Given the description of an element on the screen output the (x, y) to click on. 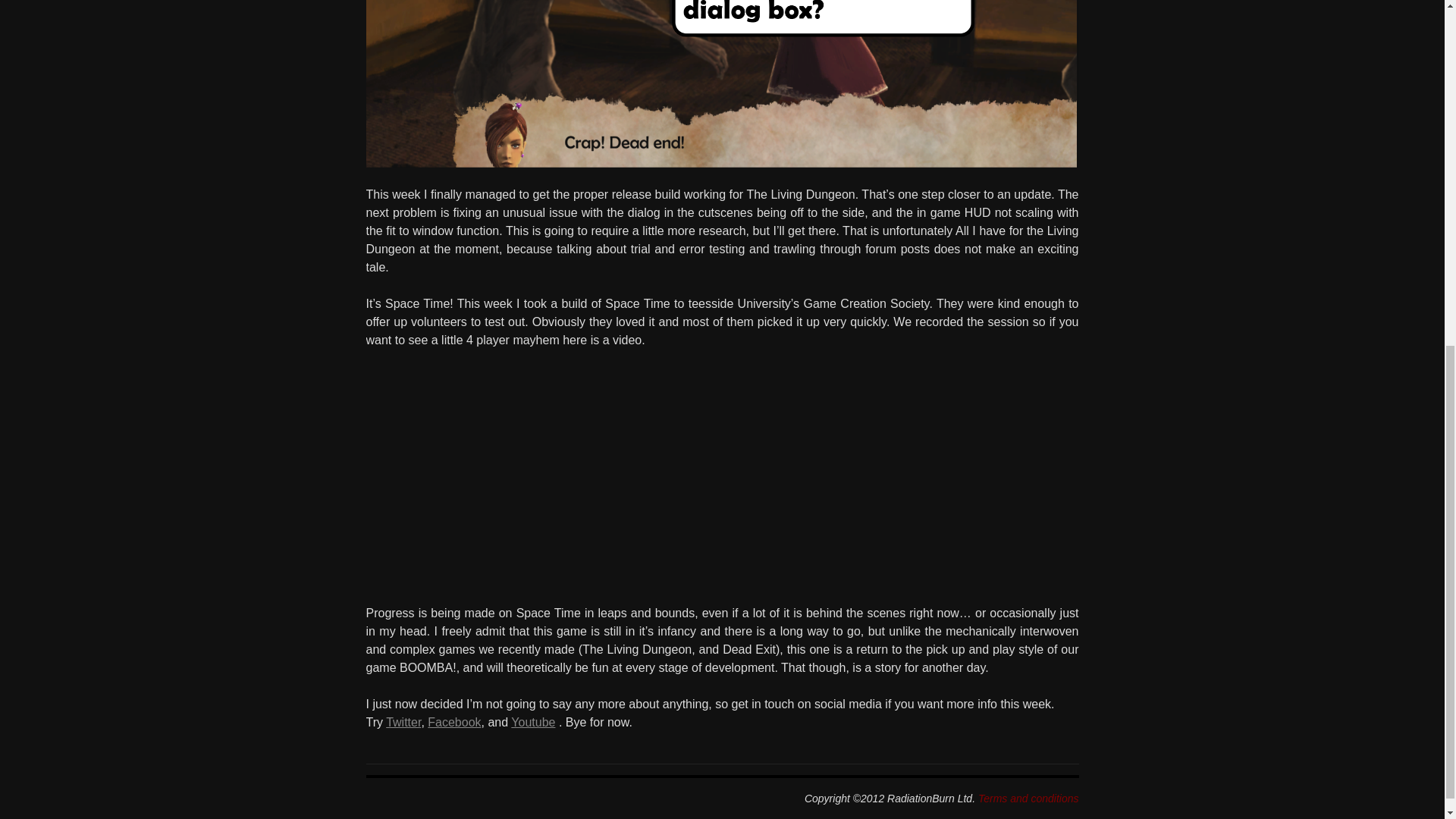
Twitter (402, 721)
Facebook (454, 721)
Youtube (532, 721)
Terms and conditions (1028, 798)
